Given the description of an element on the screen output the (x, y) to click on. 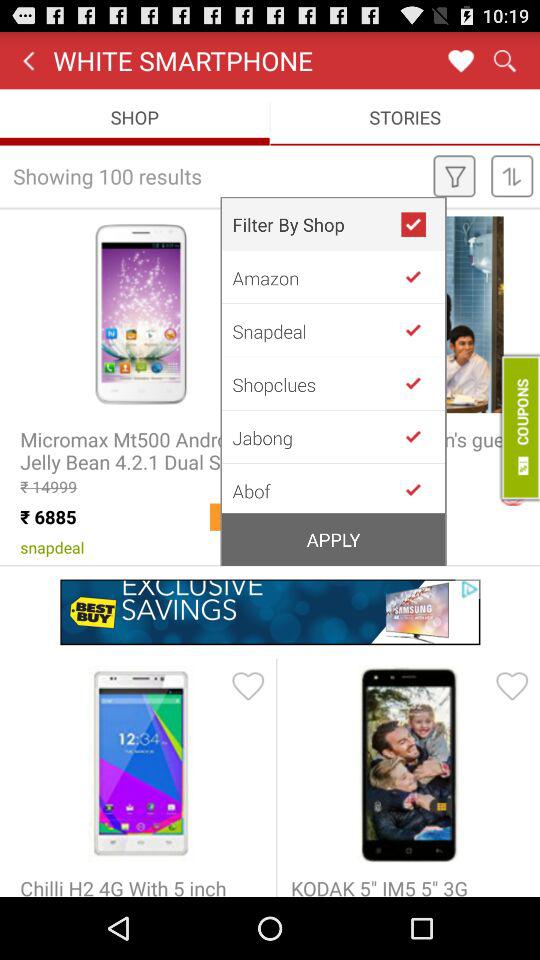
select the apply icon (333, 539)
